Given the description of an element on the screen output the (x, y) to click on. 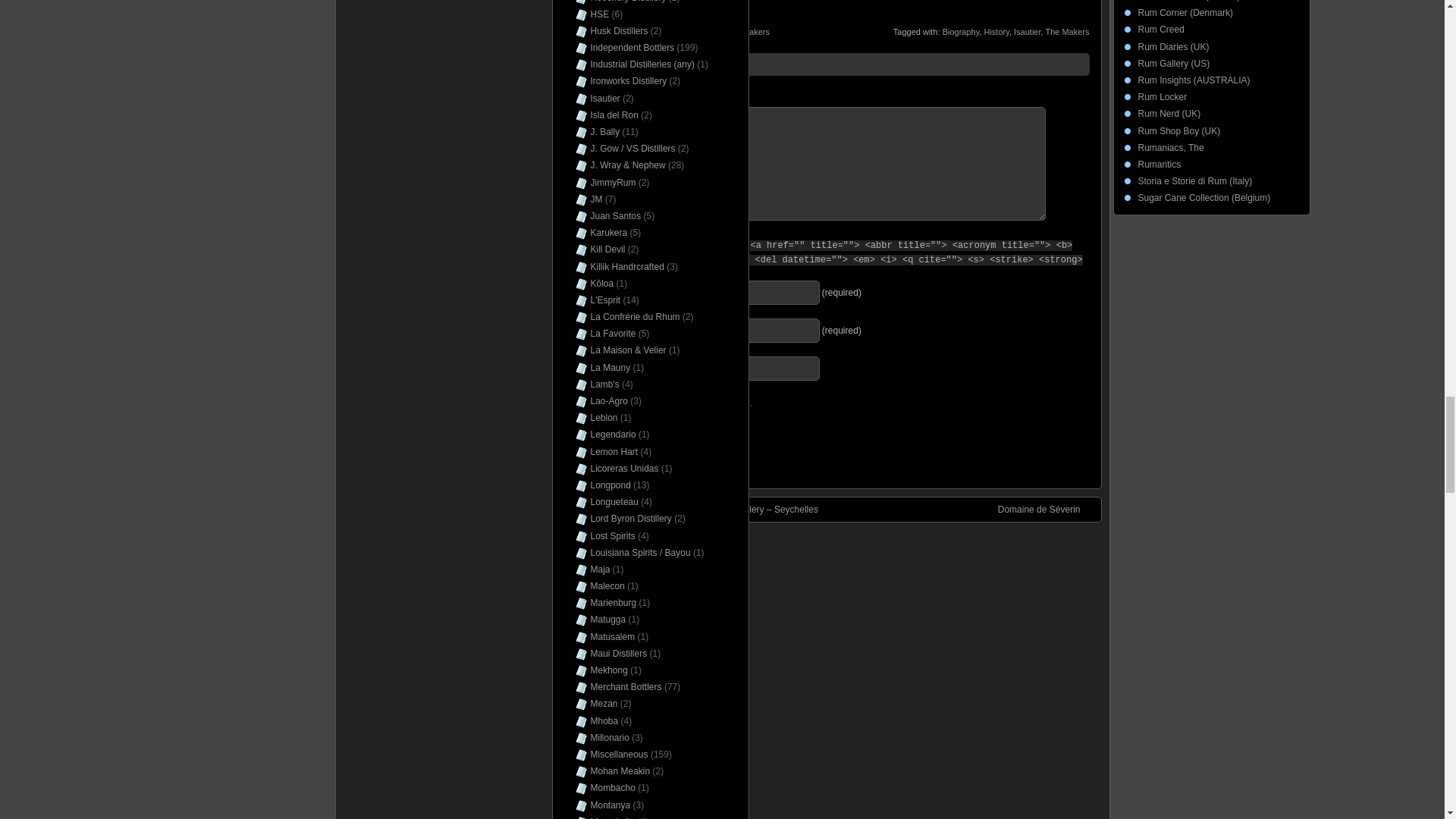
HyperText Markup Language (654, 244)
Biography (960, 31)
subscribe (571, 401)
subscribe (571, 426)
Isautier (1027, 31)
Submit Comment (615, 455)
The Makers (747, 31)
History (996, 31)
Ruminsky (639, 31)
The Makers (1067, 31)
